Given the description of an element on the screen output the (x, y) to click on. 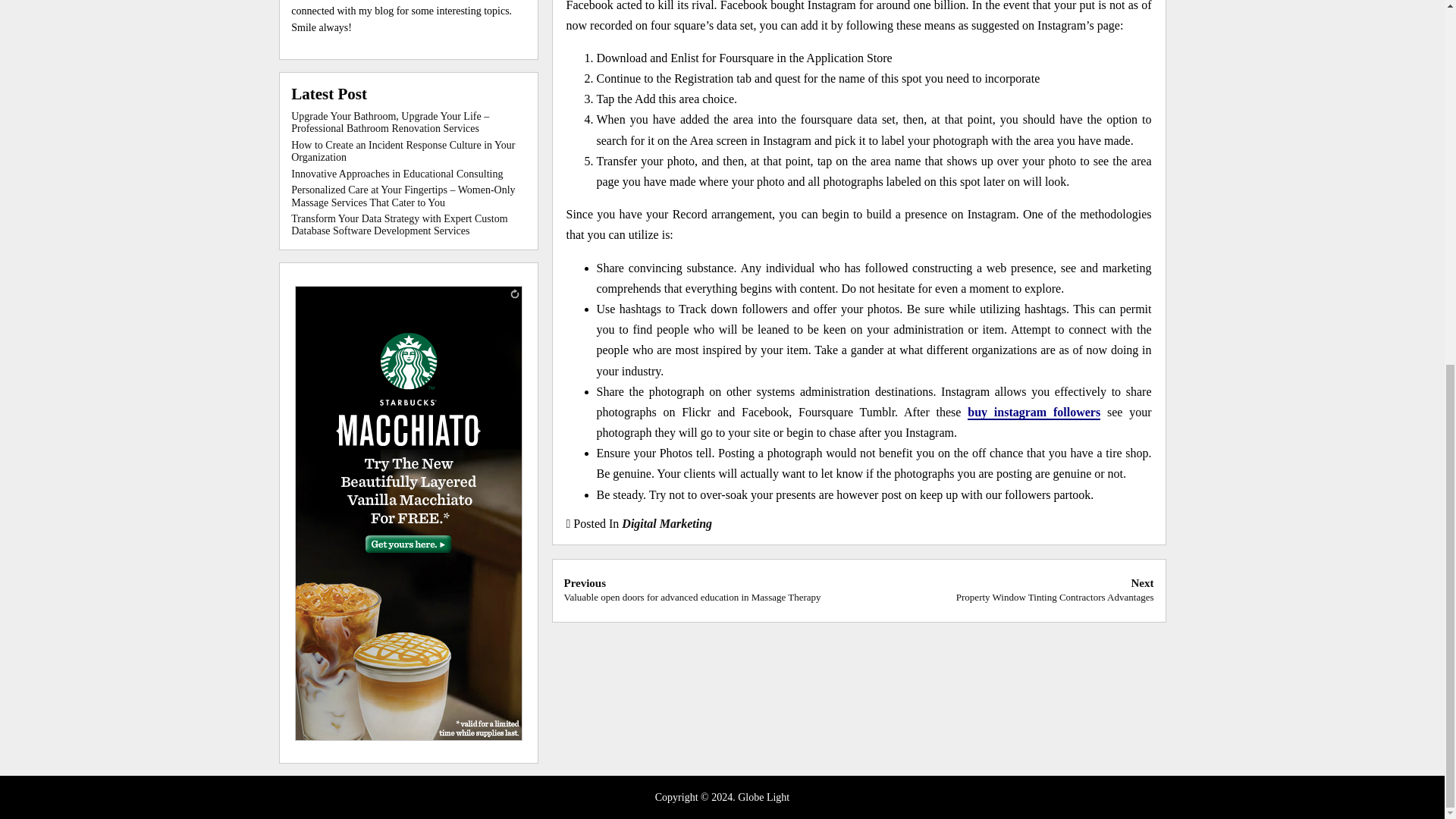
buy instagram followers (1034, 412)
Globe Light (763, 797)
Innovative Approaches in Educational Consulting (396, 173)
Digital Marketing (666, 522)
